Given the description of an element on the screen output the (x, y) to click on. 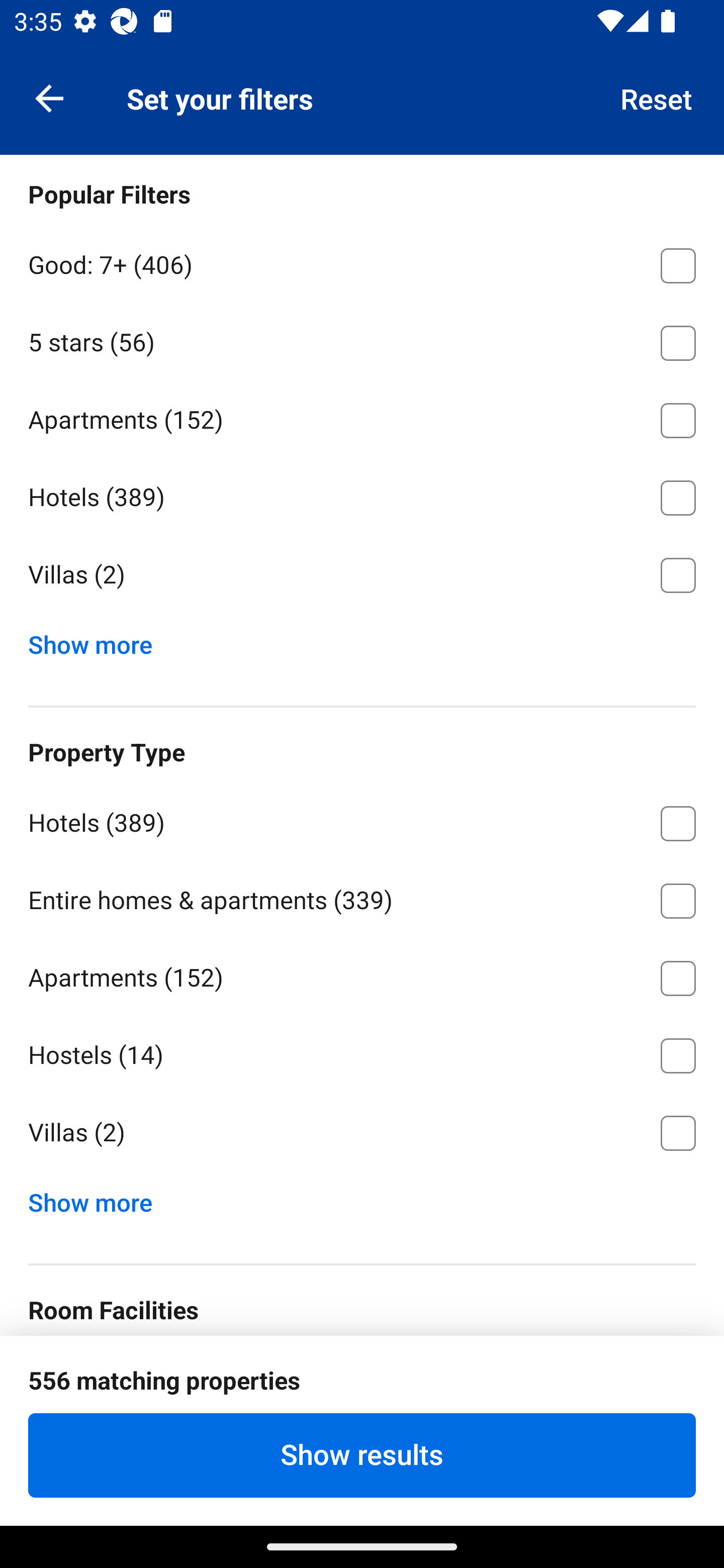
Navigate up (49, 97)
Reset (656, 97)
Good: 7+ ⁦(406) (361, 262)
5 stars ⁦(56) (361, 339)
Apartments ⁦(152) (361, 416)
Hotels ⁦(389) (361, 494)
Villas ⁦(2) (361, 575)
Show more (97, 640)
Hotels ⁦(389) (361, 819)
Entire homes & apartments ⁦(339) (361, 897)
Apartments ⁦(152) (361, 974)
Hostels ⁦(14) (361, 1051)
Villas ⁦(2) (361, 1133)
Show more (97, 1198)
Private bathroom ⁦(347) (361, 1378)
Show results (361, 1454)
